Given the description of an element on the screen output the (x, y) to click on. 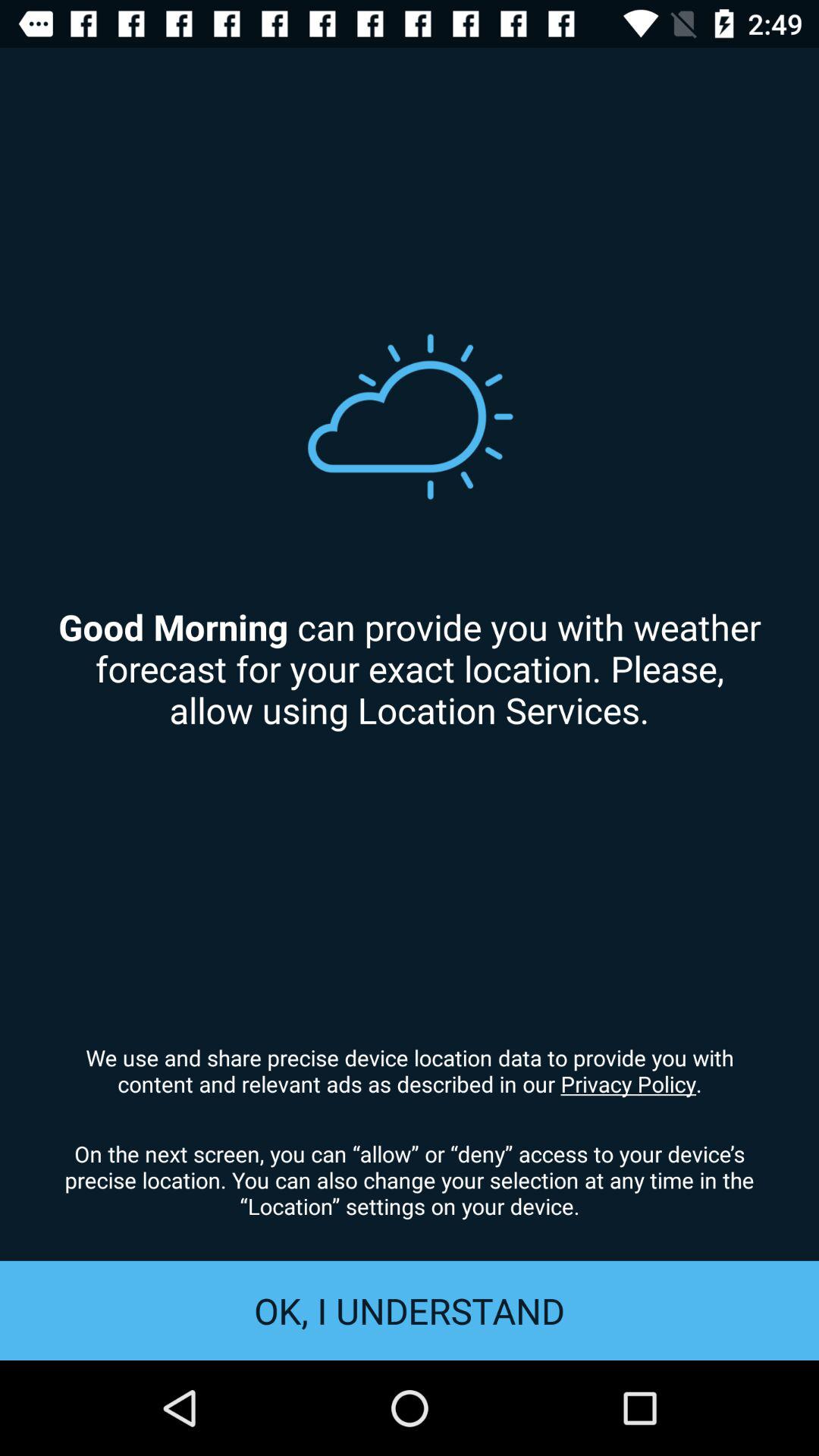
scroll until we use and item (409, 1070)
